Given the description of an element on the screen output the (x, y) to click on. 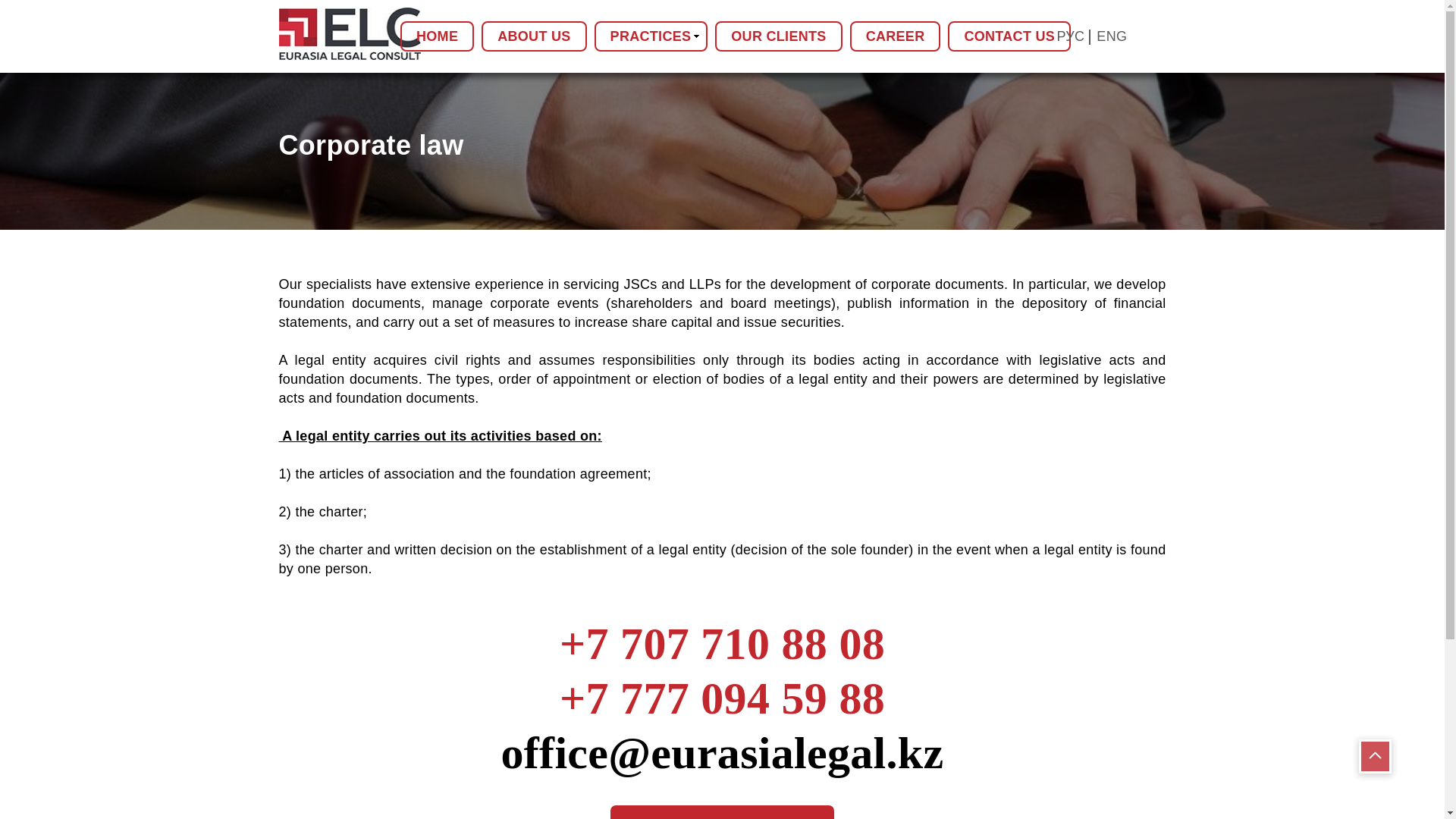
CONTACT US (1008, 36)
ENG (1111, 36)
HOME (437, 36)
GET ADVICE (721, 811)
PRACTICES (650, 36)
CAREER (895, 36)
ABOUT US (533, 36)
OUR CLIENTS (777, 36)
